Given the description of an element on the screen output the (x, y) to click on. 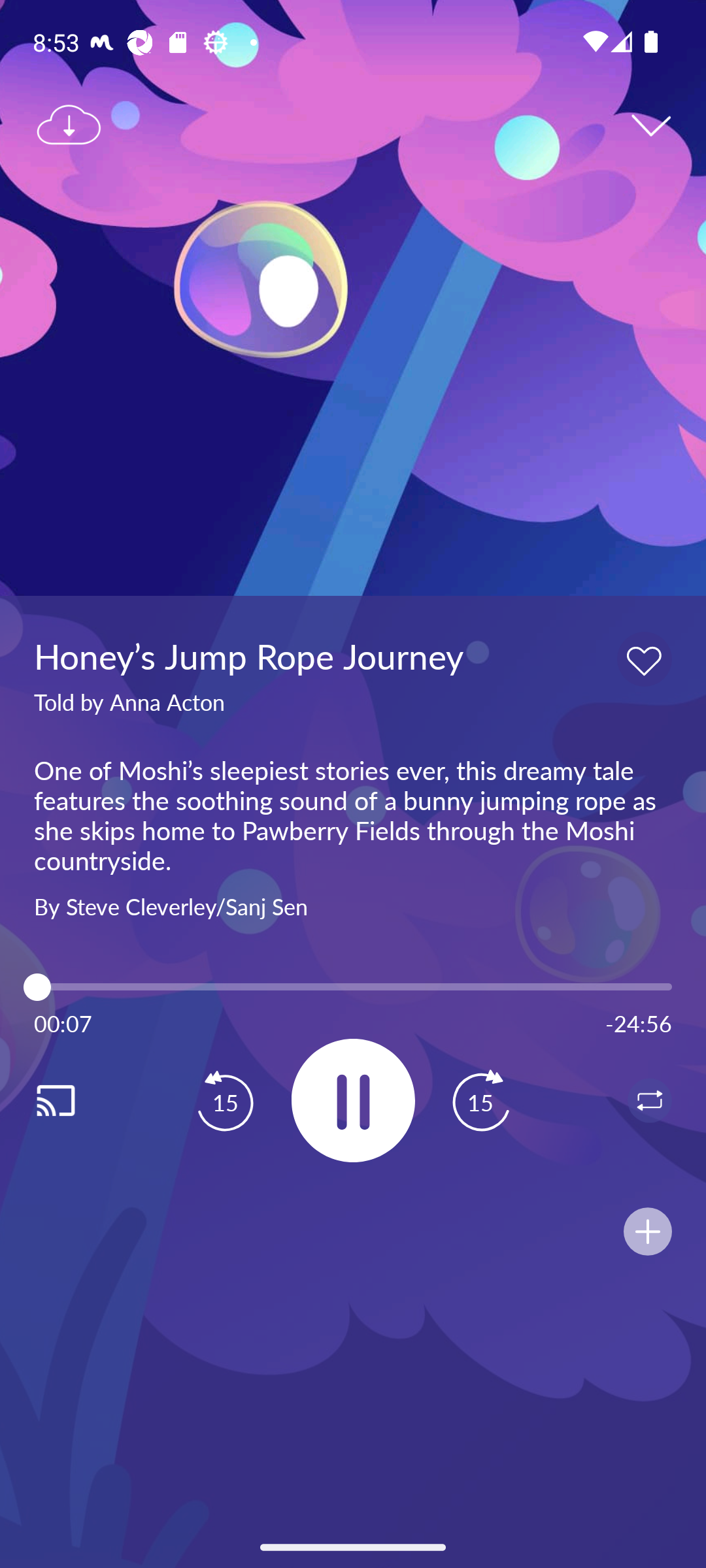
7.0 (352, 986)
Cast. Disconnected (76, 1100)
